Given the description of an element on the screen output the (x, y) to click on. 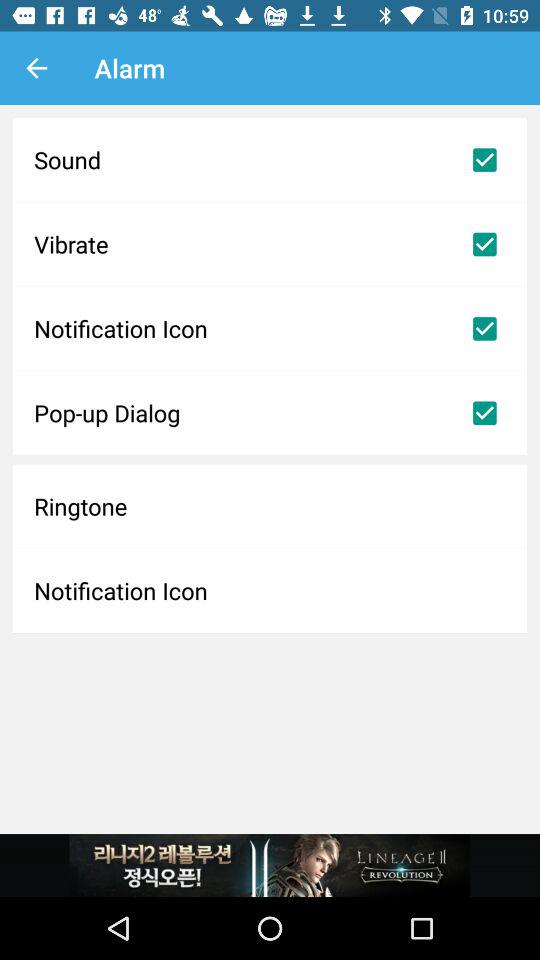
flip to sound icon (269, 160)
